Given the description of an element on the screen output the (x, y) to click on. 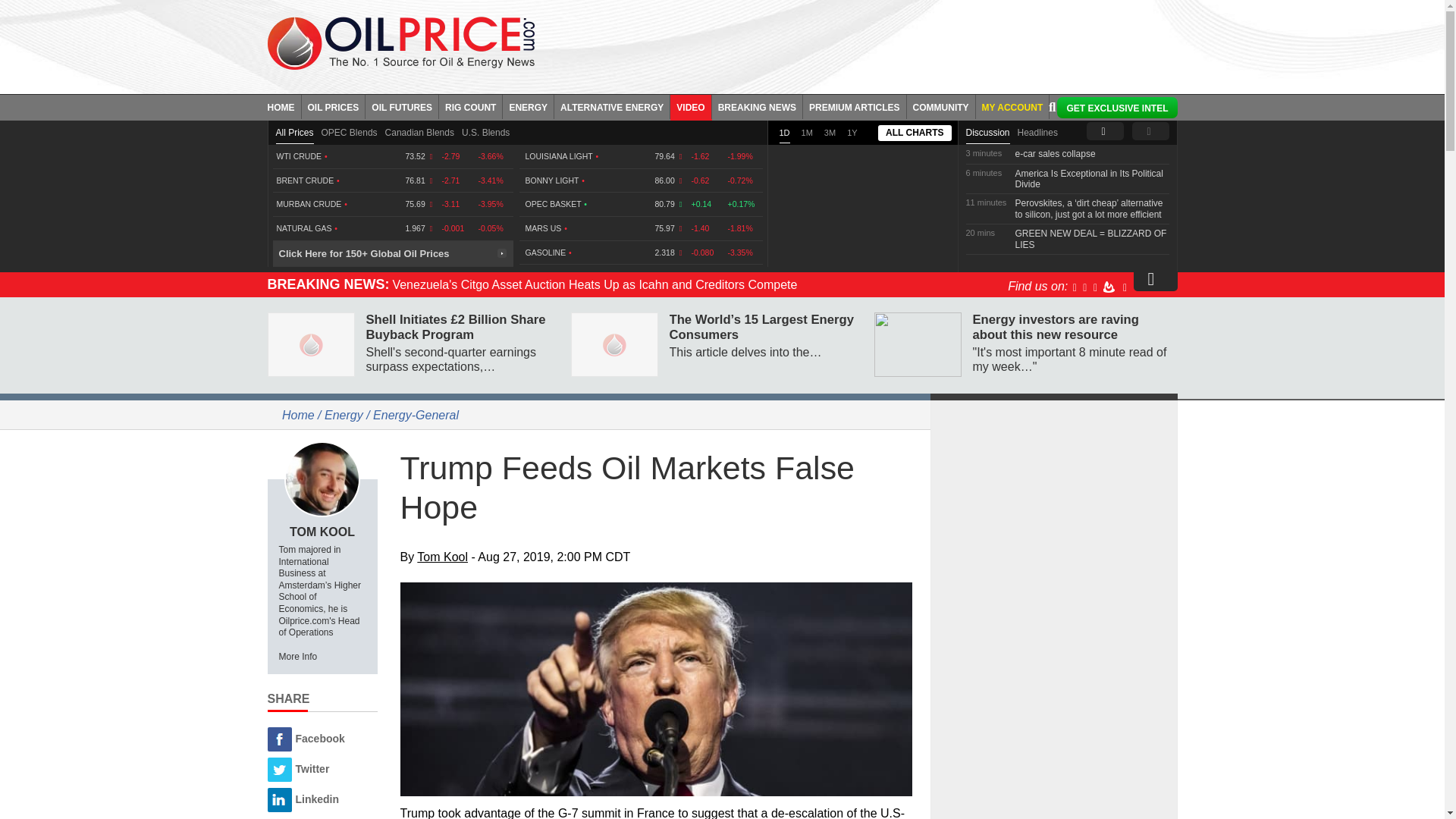
ALTERNATIVE ENERGY (611, 106)
VIDEO (690, 106)
MY ACCOUNT (1012, 106)
Oil prices - Oilprice.com (400, 42)
OIL FUTURES (402, 106)
Tom Kool (321, 478)
ENERGY (528, 106)
BREAKING NEWS (757, 106)
PREMIUM ARTICLES (855, 106)
COMMUNITY (941, 106)
HOME (283, 106)
RIG COUNT (470, 106)
Trump (656, 689)
OIL PRICES (333, 106)
